Given the description of an element on the screen output the (x, y) to click on. 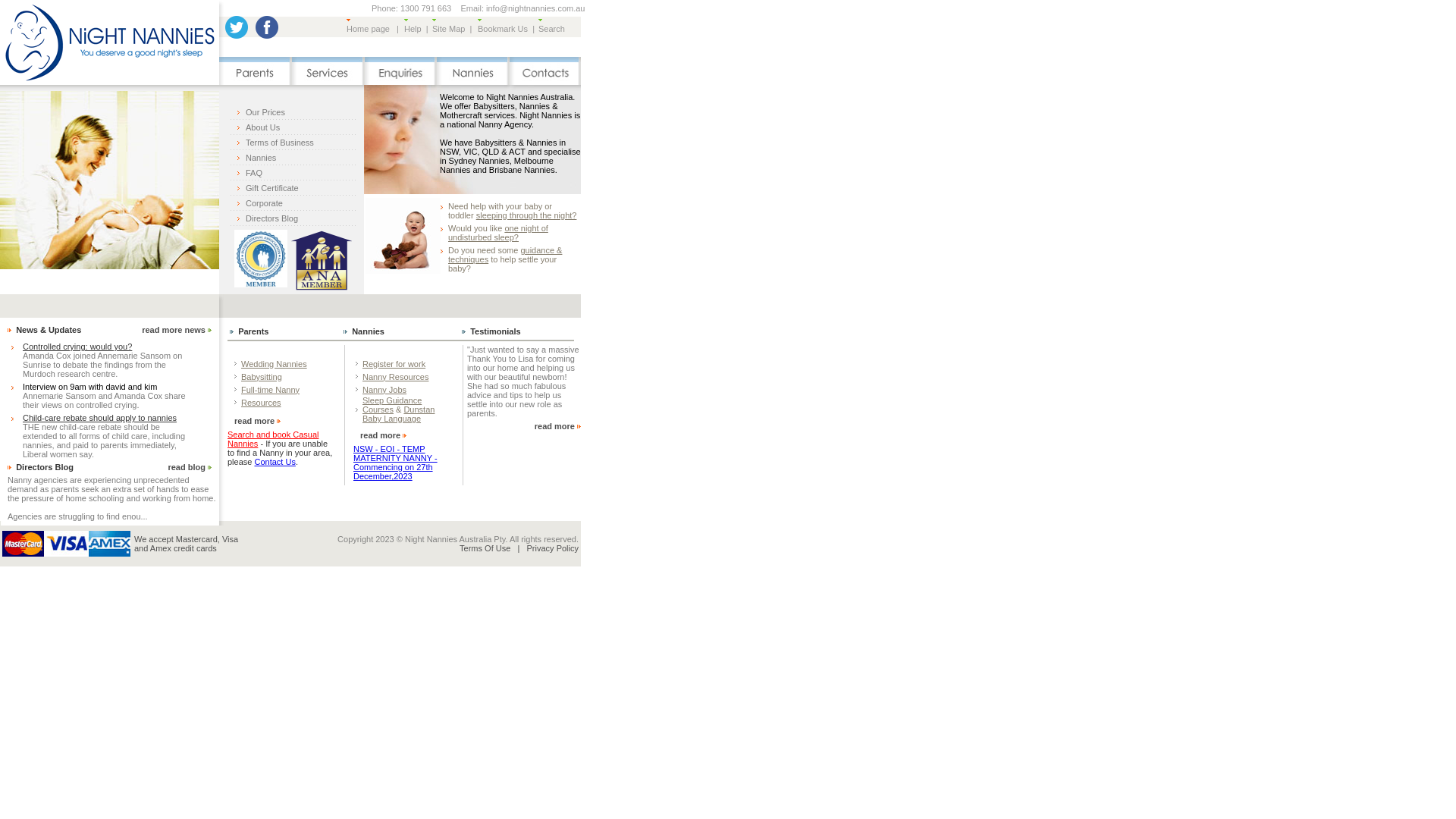
About Us Element type: text (262, 126)
read blog Element type: text (186, 466)
Privacy Policy Element type: text (552, 547)
Directors Blog Element type: text (271, 217)
read more news Element type: text (173, 329)
Nanny Jobs Element type: text (384, 389)
Site Map Element type: text (448, 28)
Register for work Element type: text (393, 363)
Babysitting Element type: text (261, 375)
Parents Resources Element type: hover (255, 81)
Nannies Element type: text (260, 157)
Sleep Guidance Courses Element type: text (391, 404)
Make a Booking Element type: hover (400, 81)
Bookmark Us Element type: text (502, 28)
sleeping through the night? Element type: text (526, 214)
We accept Mastercard, Visa and Amex credit cards Element type: hover (66, 543)
Night Nannies on Facebook Element type: hover (266, 35)
News & Updates Element type: text (48, 329)
Directors Blog Element type: text (44, 466)
guidance & techniques Element type: text (504, 254)
Dunstan Baby Language Element type: text (398, 413)
Gift Certificate Element type: text (271, 187)
Parents Element type: text (253, 330)
one night of undisturbed sleep? Element type: text (498, 232)
Nannies Element type: hover (472, 81)
Resources Element type: text (261, 401)
Terms Of Use Element type: text (484, 547)
Child-care rebate should apply to nannies Element type: text (99, 417)
Nannies Element type: text (367, 330)
Full-time Nanny Element type: text (270, 389)
read more Element type: text (554, 425)
FAQ Element type: text (253, 172)
Corporate Element type: text (263, 202)
Night Nannies on Twitter Element type: hover (236, 35)
Home page Element type: text (367, 28)
Terms of Business Element type: text (279, 142)
Wedding Nannies Element type: text (274, 363)
Contact Us Element type: text (274, 461)
Search Element type: text (551, 28)
Our Services Element type: hover (327, 81)
Contact Us Element type: hover (544, 81)
Testimonials Element type: text (495, 330)
Search and book Casual Nannies Element type: text (272, 438)
Controlled crying: would you? Element type: text (76, 346)
Our Prices Element type: text (265, 111)
read more Element type: text (254, 420)
Help Element type: text (412, 28)
Nanny Resources Element type: text (395, 375)
read more Element type: text (380, 434)
